Given the description of an element on the screen output the (x, y) to click on. 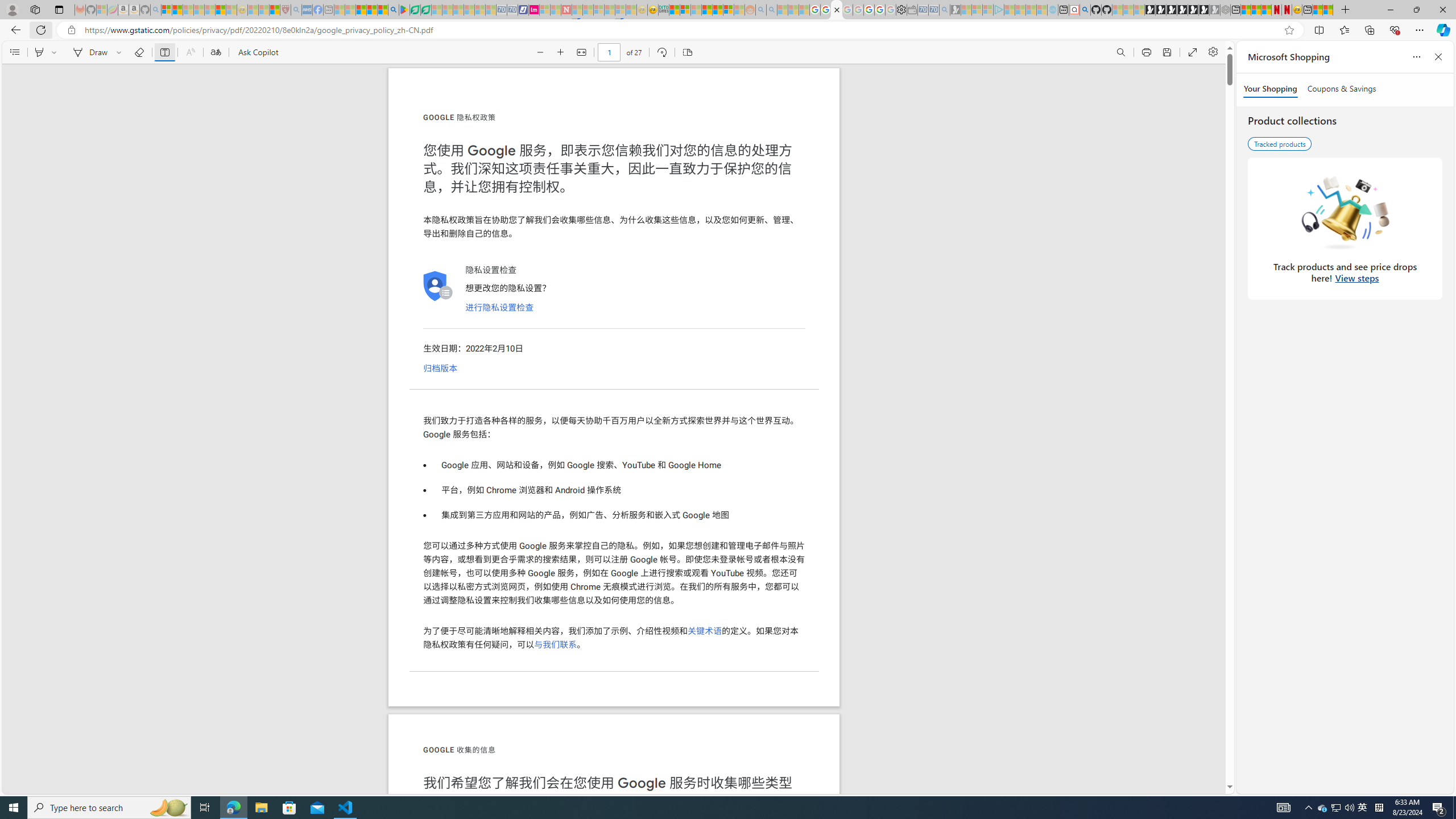
Page view (687, 52)
